Given the description of an element on the screen output the (x, y) to click on. 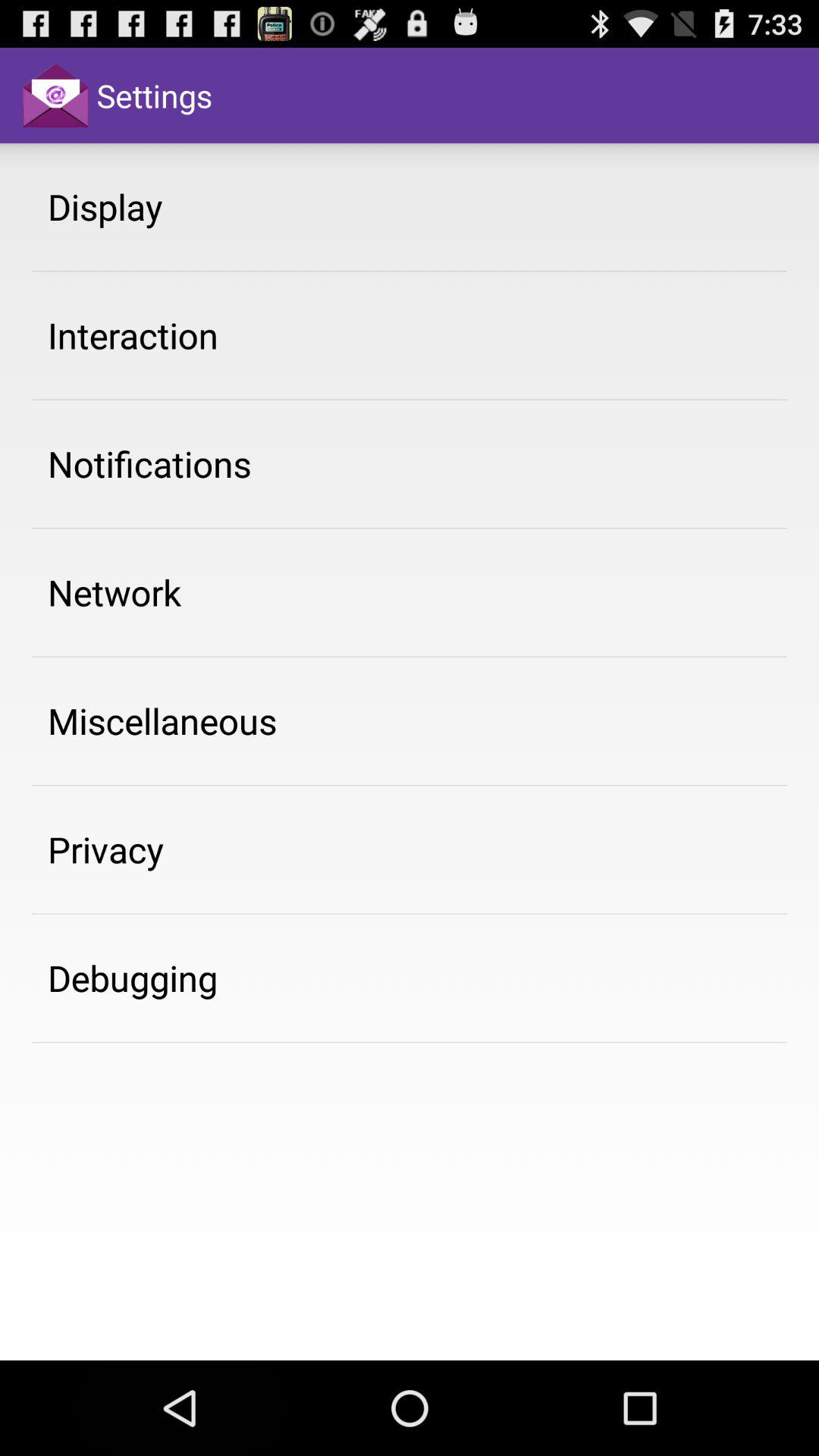
click app above the notifications item (132, 335)
